Given the description of an element on the screen output the (x, y) to click on. 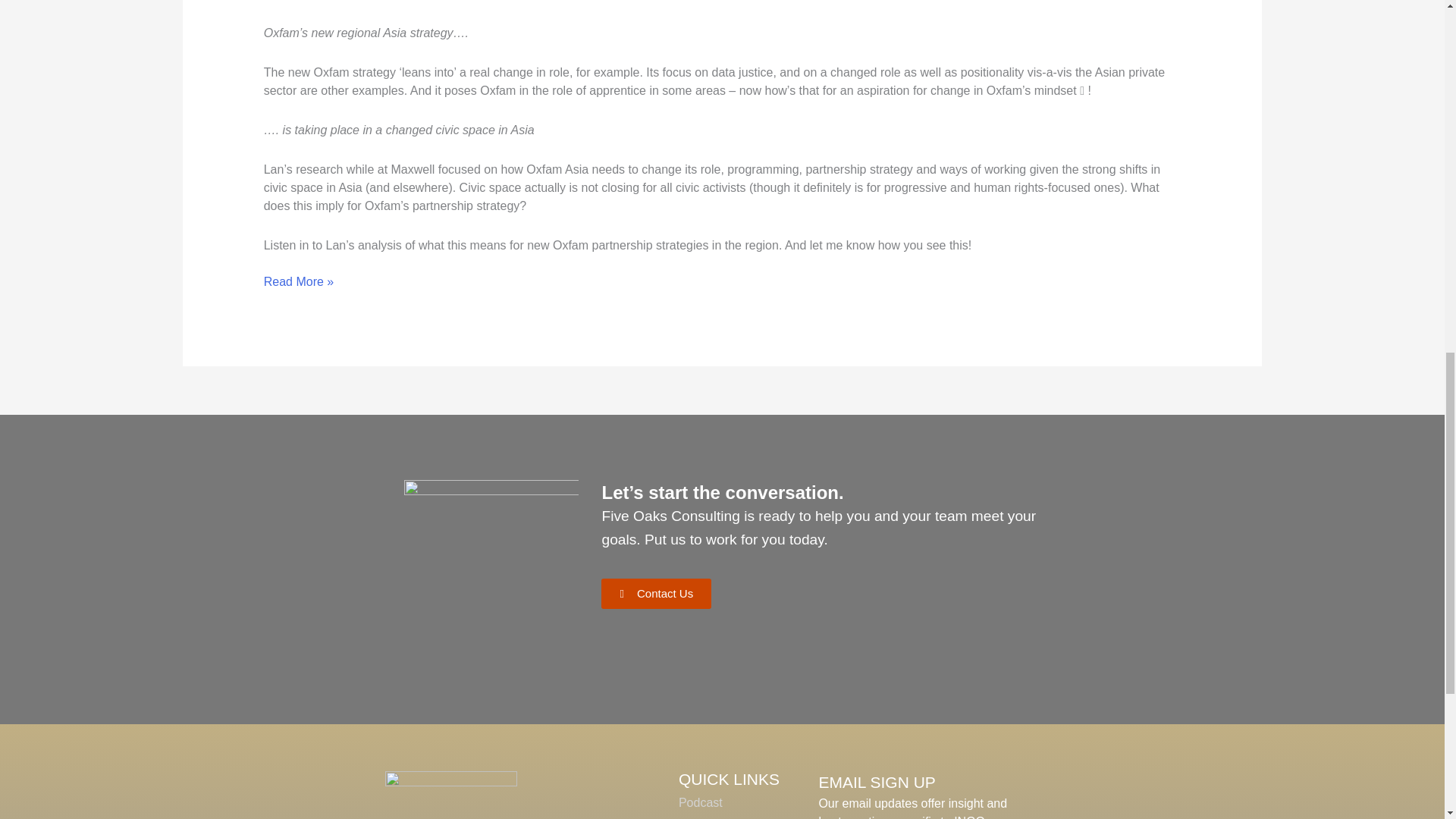
Contact Us (656, 593)
Podcast (700, 802)
